Given the description of an element on the screen output the (x, y) to click on. 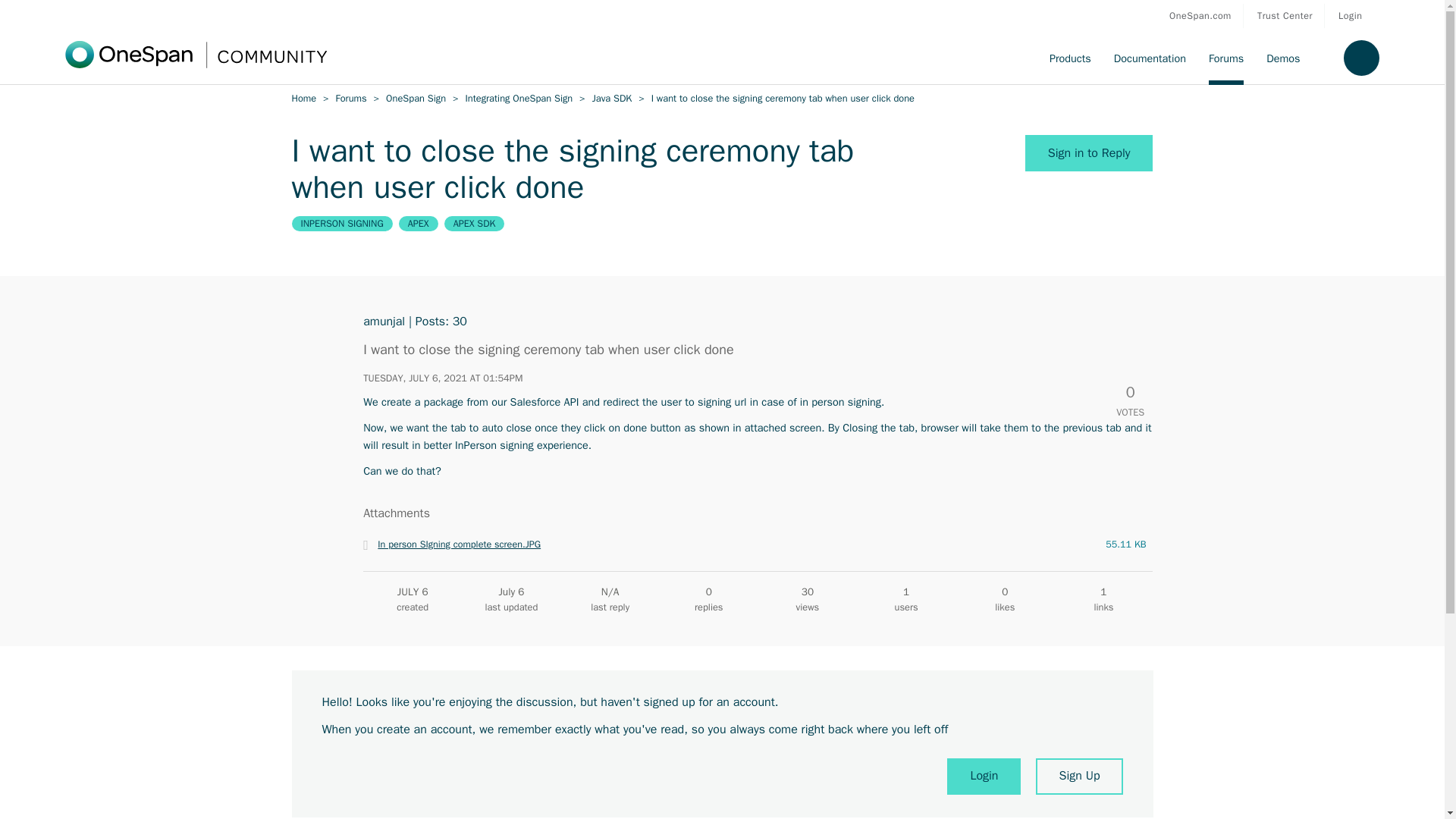
Products (1070, 57)
Login (1349, 15)
OneSpan Community (550, 58)
OneSpan.com (1200, 15)
Trust Center (1284, 15)
Documentation (1149, 57)
Open image in new window (458, 544)
View user profile. (383, 321)
